Given the description of an element on the screen output the (x, y) to click on. 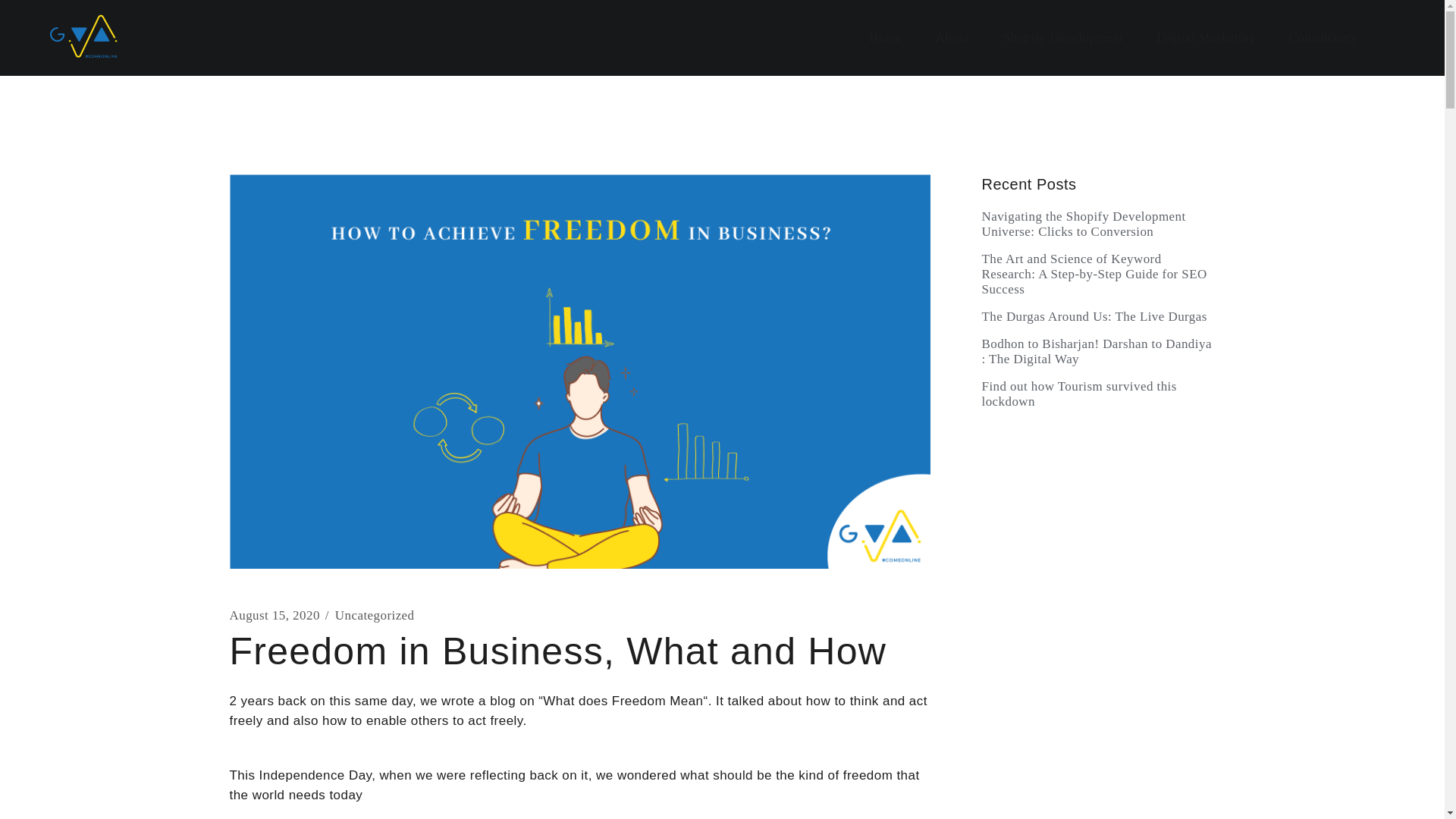
Consultancy (1323, 38)
Shopify Development (1063, 38)
The Durgas Around Us: The Live Durgas (1097, 316)
August 15, 2020 (273, 615)
Bodhon to Bisharjan! Darshan to Dandiya : The Digital Way (1097, 351)
Digital Marketing (1205, 38)
What does Freedom Mean (623, 700)
Find out how Tourism survived this lockdown (1097, 394)
Uncategorized (374, 615)
